Given the description of an element on the screen output the (x, y) to click on. 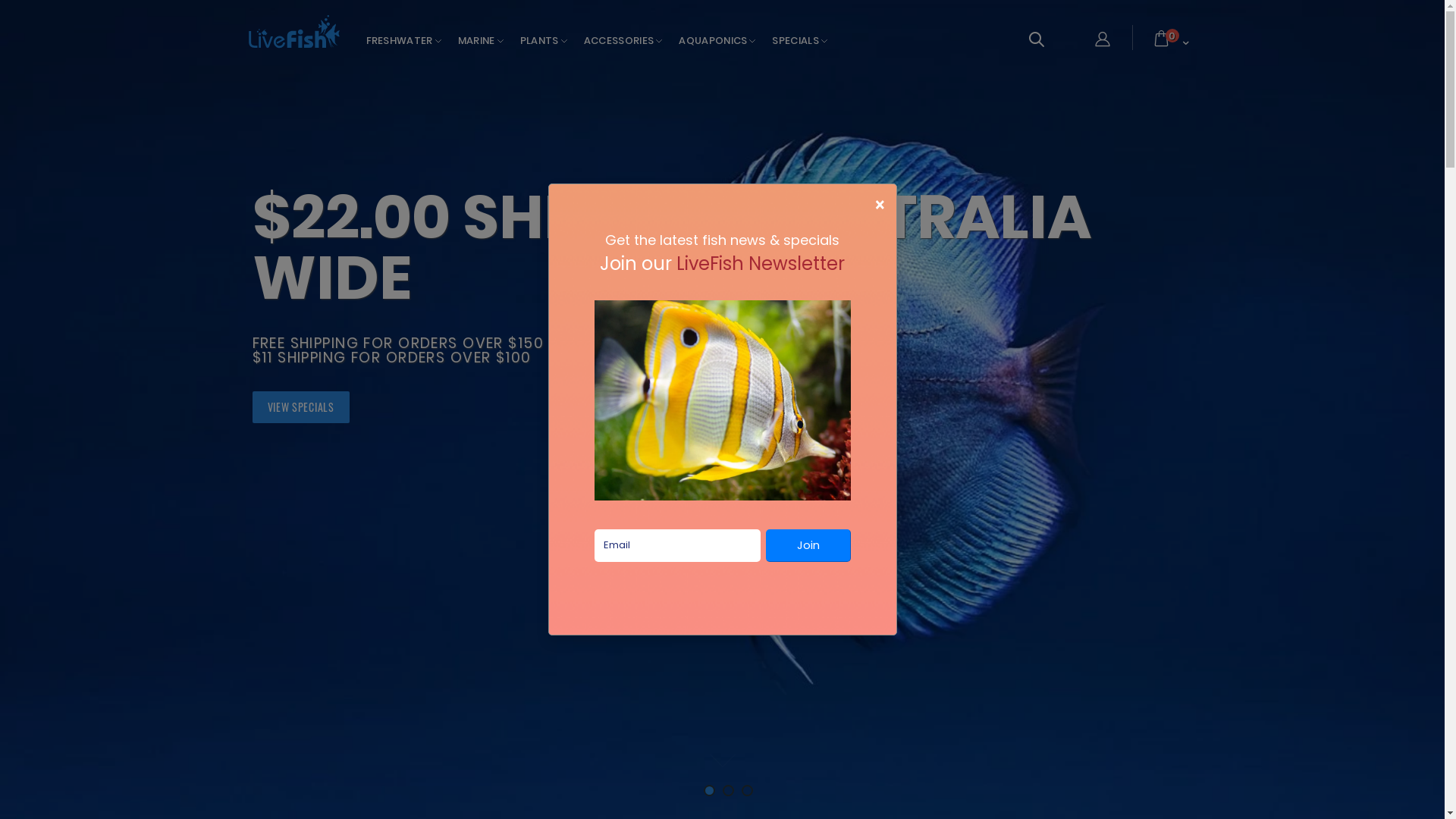
FRESHWATER Element type: text (400, 40)
FRESHWATER Element type: text (299, 338)
Cart
0
items Element type: text (1170, 41)
PLANTS Element type: text (541, 40)
Skip to Content Element type: text (1011, 28)
MARINE Element type: text (478, 40)
SPECIALS Element type: text (797, 40)
MARINE Element type: text (405, 338)
AQUAPONICS Element type: text (714, 40)
ACCESSORIES Element type: text (621, 40)
